Given the description of an element on the screen output the (x, y) to click on. 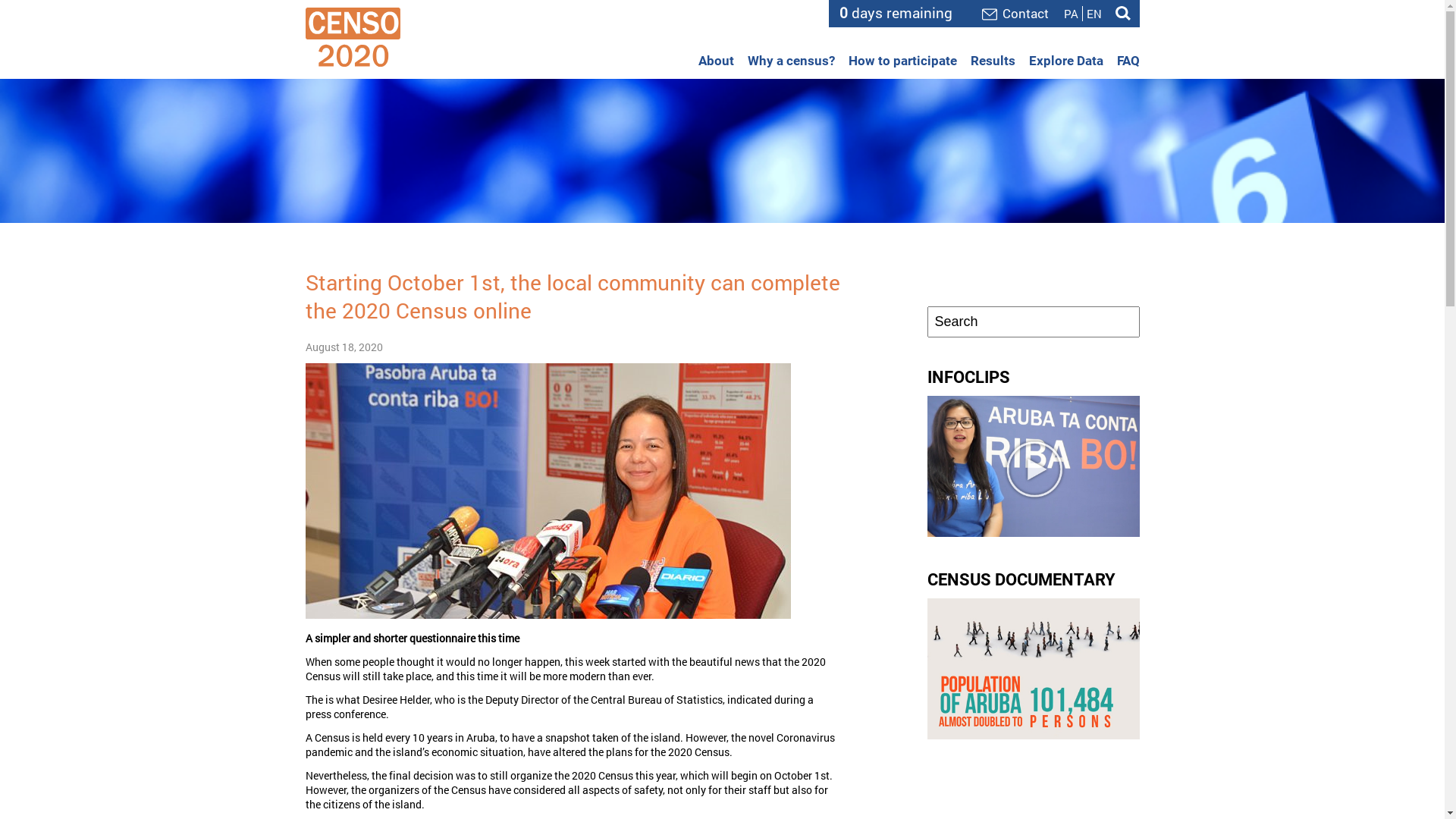
Explore Data Element type: text (1065, 60)
Census 2020 - Aruba Element type: text (351, 36)
About Element type: text (715, 60)
EN Element type: text (1093, 13)
Contact Element type: text (1014, 12)
Search Element type: text (1121, 13)
PA Element type: text (1070, 13)
Why a census? Element type: text (790, 60)
FAQ Element type: text (1127, 60)
How to participate Element type: text (901, 60)
Results Element type: text (992, 60)
